Given the description of an element on the screen output the (x, y) to click on. 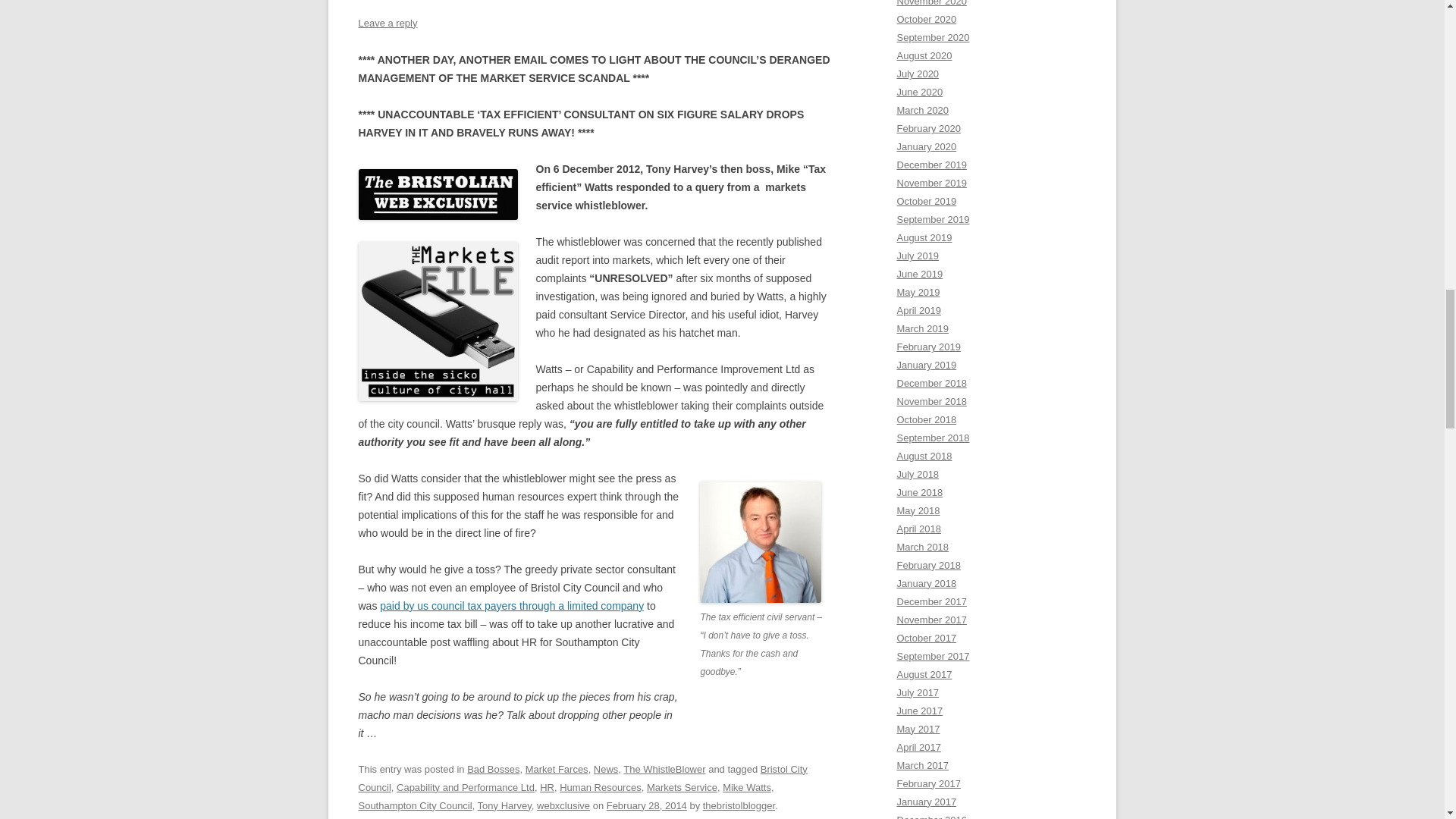
12:47 pm (647, 805)
View all posts by thebristolblogger (738, 805)
Leave a reply (387, 22)
paid by us council tax payers through a limited company (511, 605)
